Given the description of an element on the screen output the (x, y) to click on. 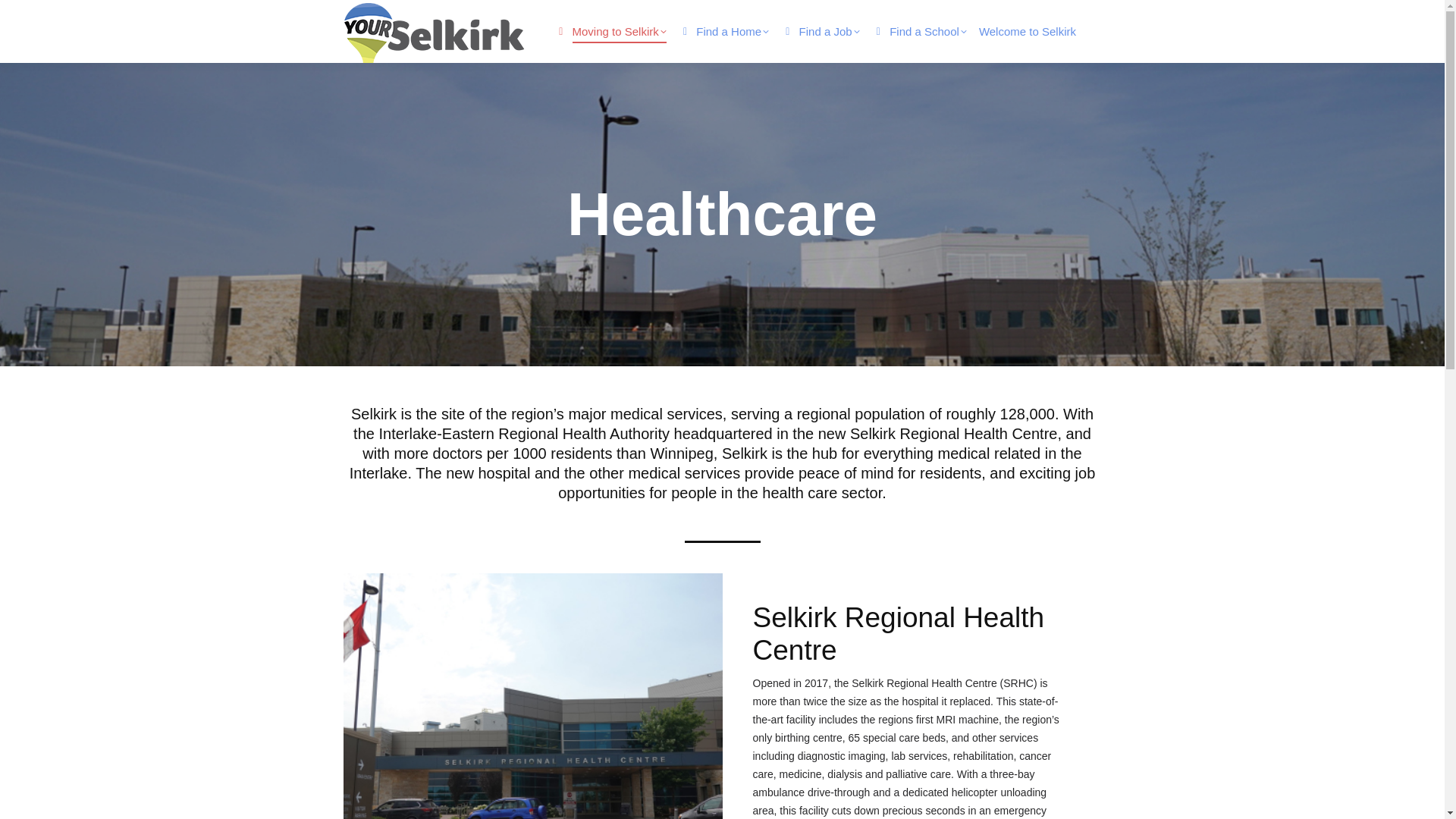
Welcome to Selkirk (1026, 31)
Find a School (919, 31)
Find a Job (820, 31)
Moving to Selkirk (610, 31)
Find a Home (723, 31)
